Given the description of an element on the screen output the (x, y) to click on. 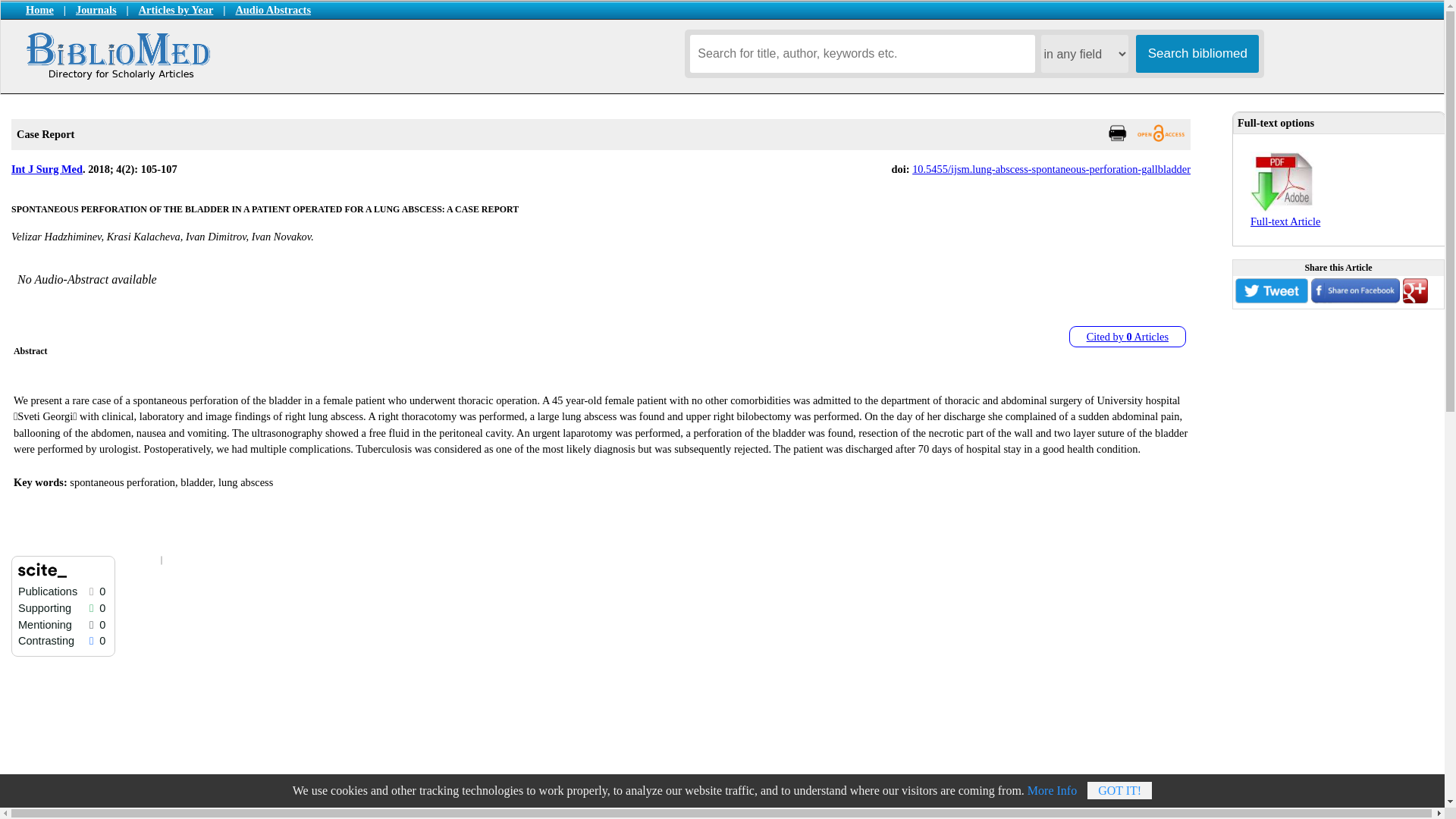
Int J Surg Med (46, 168)
Cited by 0 Articles (1127, 336)
Search bibliomed (1197, 53)
Home (45, 9)
Search bibliomed (1197, 53)
Advertisement (1307, 810)
Audio Abstracts (272, 9)
Articles by Year (176, 9)
More Info (1052, 789)
Full-text Article (1285, 214)
Journals (95, 9)
Search bibliomed (1197, 53)
